Given the description of an element on the screen output the (x, y) to click on. 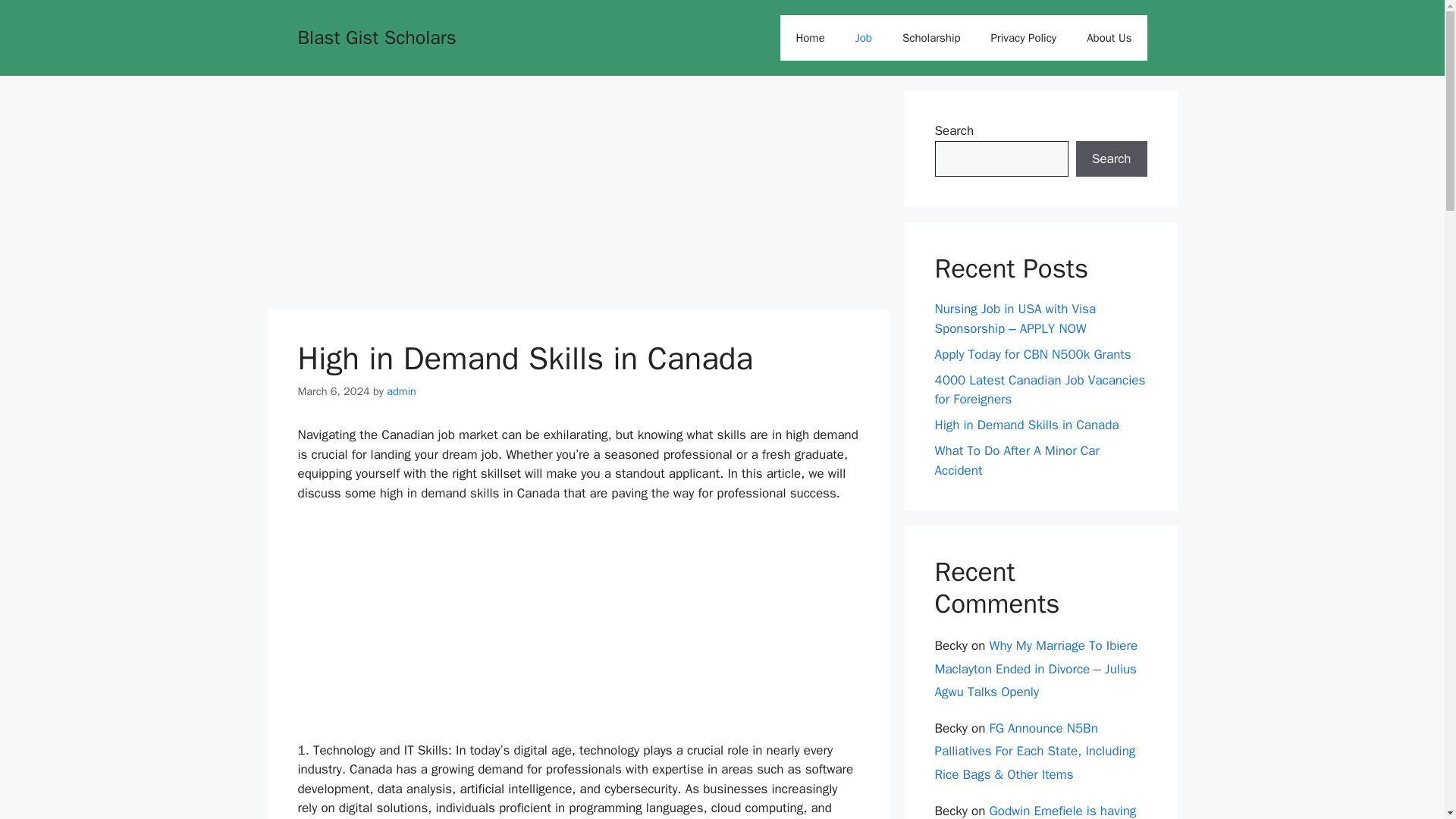
Privacy Policy (1023, 37)
View all posts by admin (401, 391)
Apply Today for CBN N500k Grants (1032, 353)
Blast Gist Scholars (376, 37)
Job (863, 37)
About Us (1109, 37)
admin (401, 391)
High in Demand Skills in Canada (1026, 424)
What To Do After A Minor Car Accident (1016, 460)
Home (810, 37)
